Given the description of an element on the screen output the (x, y) to click on. 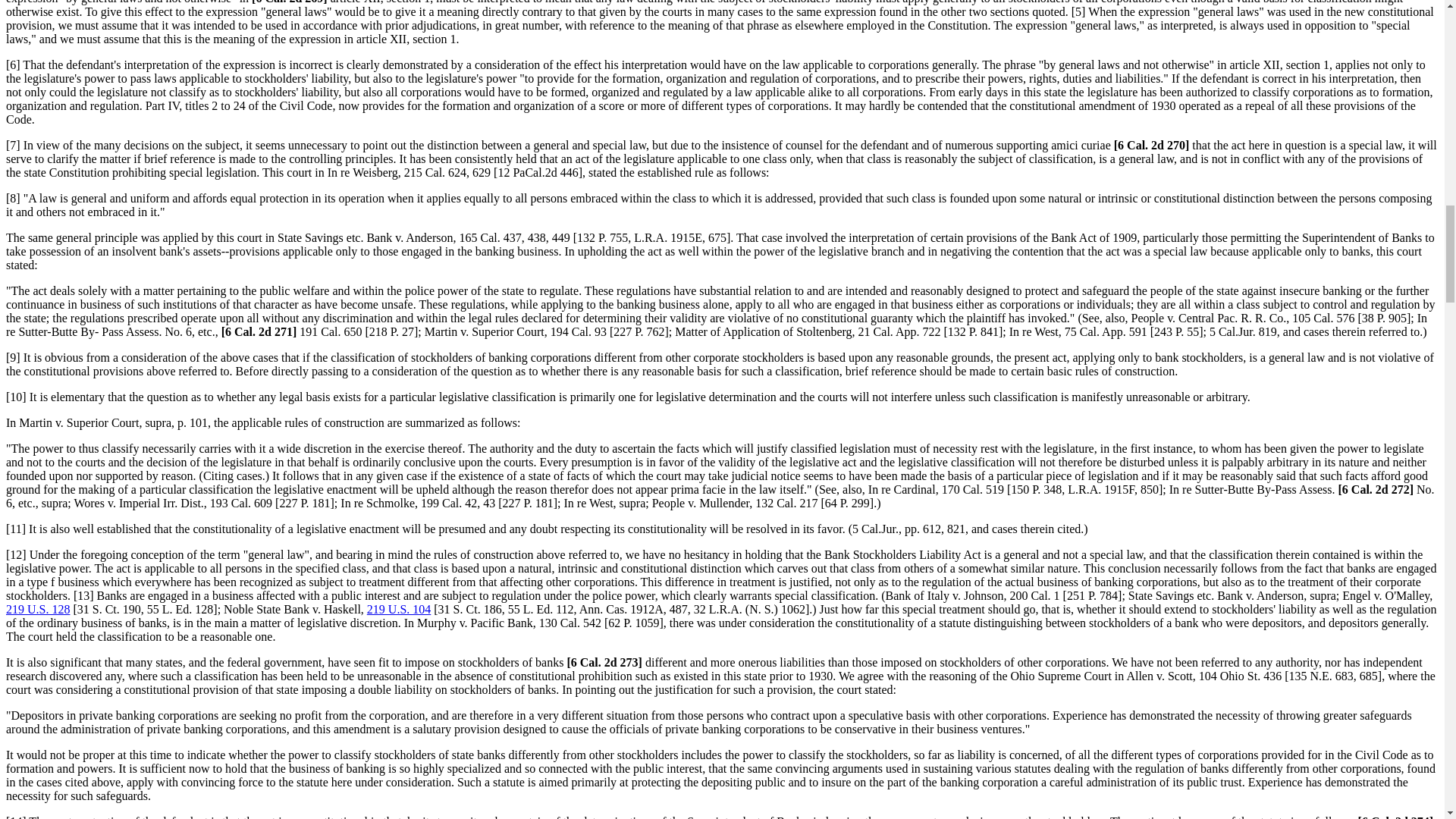
219 U.S. 128 (37, 608)
219 U.S. 104 (398, 608)
